Given the description of an element on the screen output the (x, y) to click on. 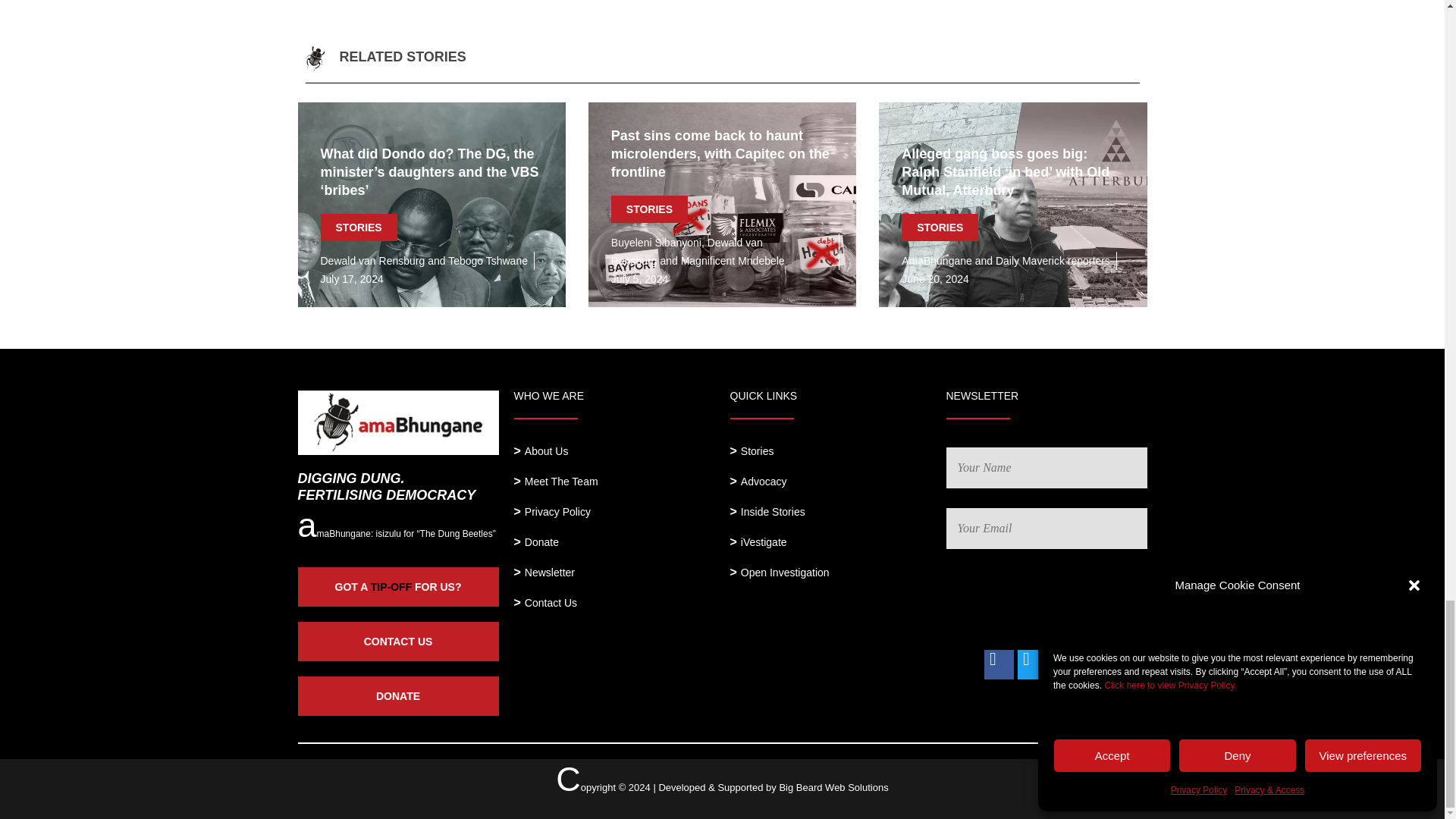
Subscribe (1101, 598)
